Given the description of an element on the screen output the (x, y) to click on. 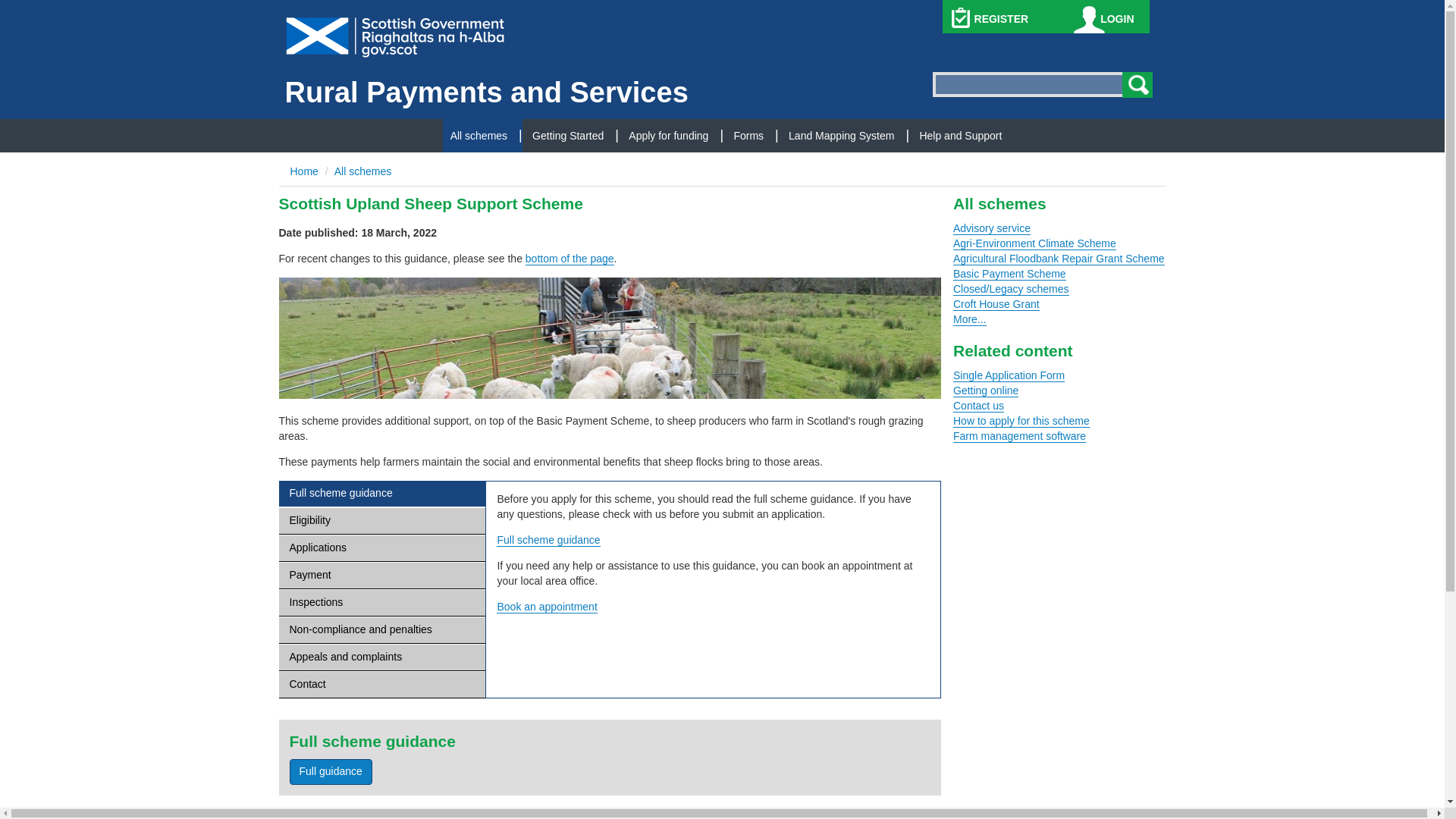
bottom of the page (569, 258)
Appeals and complaints (382, 657)
Full scheme guidance (547, 540)
Inspections (382, 602)
REGISTER (1001, 19)
All schemes (362, 171)
Help and Support (959, 135)
Full scheme guidance (330, 771)
Land Mapping System (841, 135)
Book an appointment (546, 606)
Home (303, 171)
Search (1137, 84)
Getting online (985, 390)
Full scheme guidance (547, 540)
Full scheme guidance (382, 493)
